Given the description of an element on the screen output the (x, y) to click on. 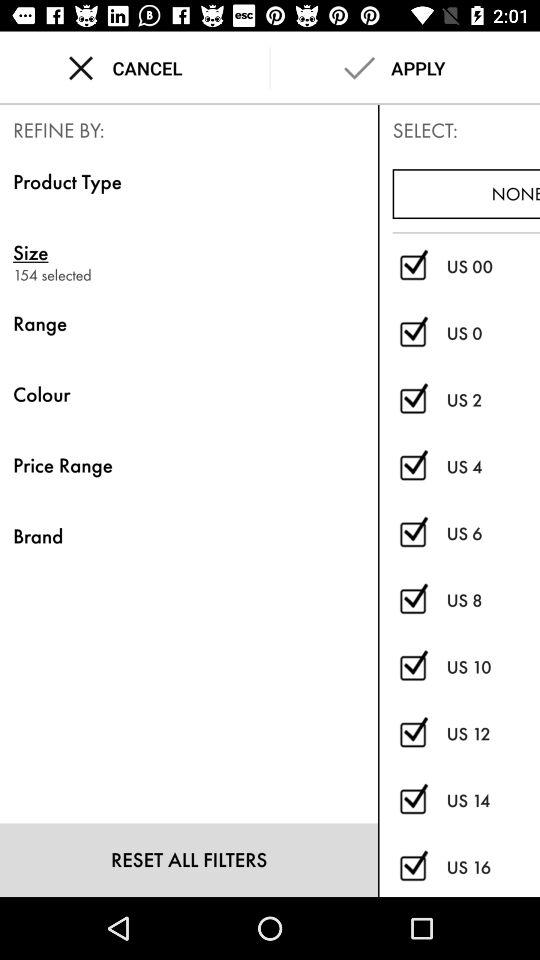
select size to include (412, 734)
